Given the description of an element on the screen output the (x, y) to click on. 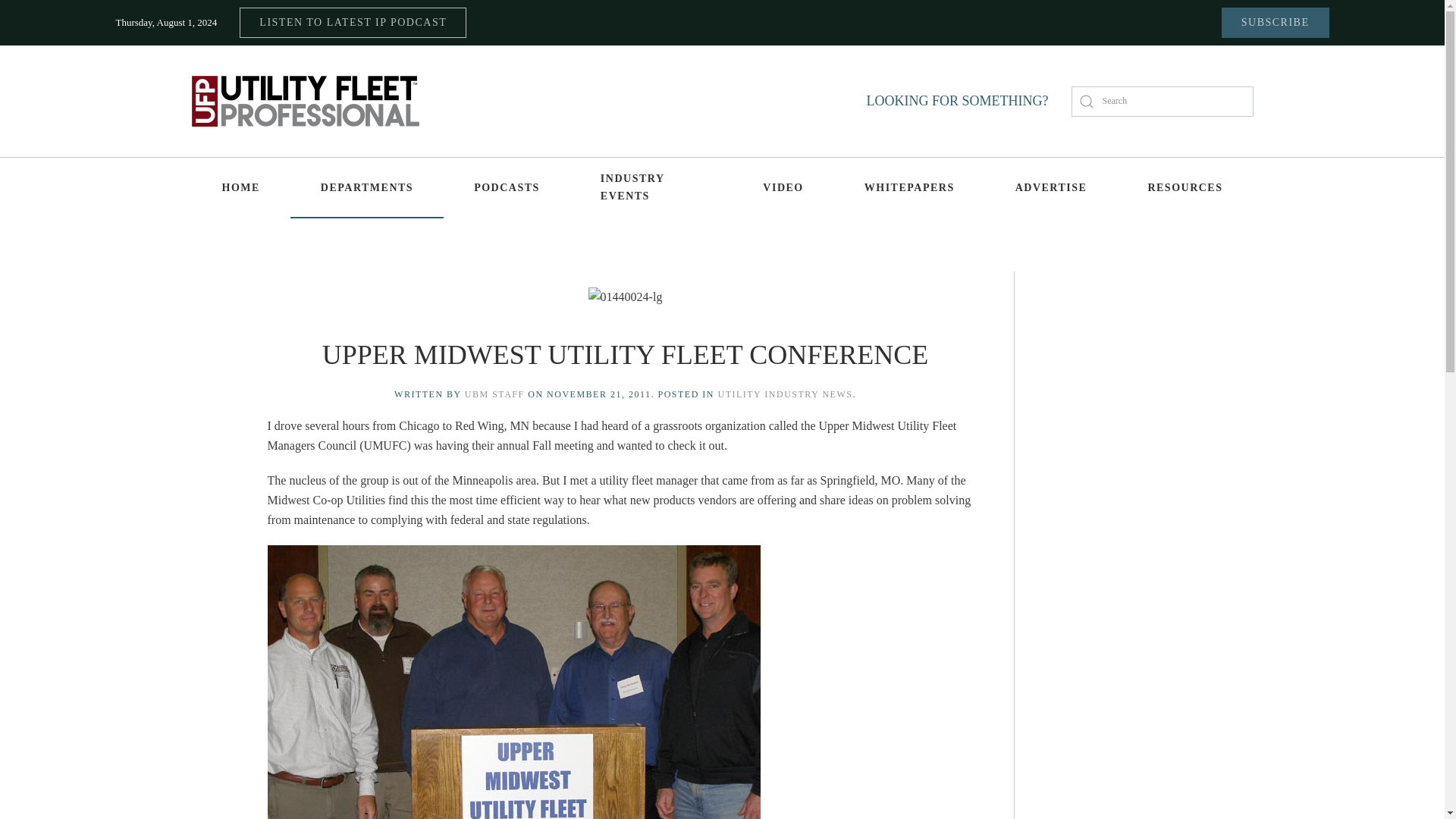
LISTEN TO LATEST IP PODCAST (352, 22)
DEPARTMENTS (366, 188)
SUBSCRIBE (1275, 22)
HOME (239, 188)
